Given the description of an element on the screen output the (x, y) to click on. 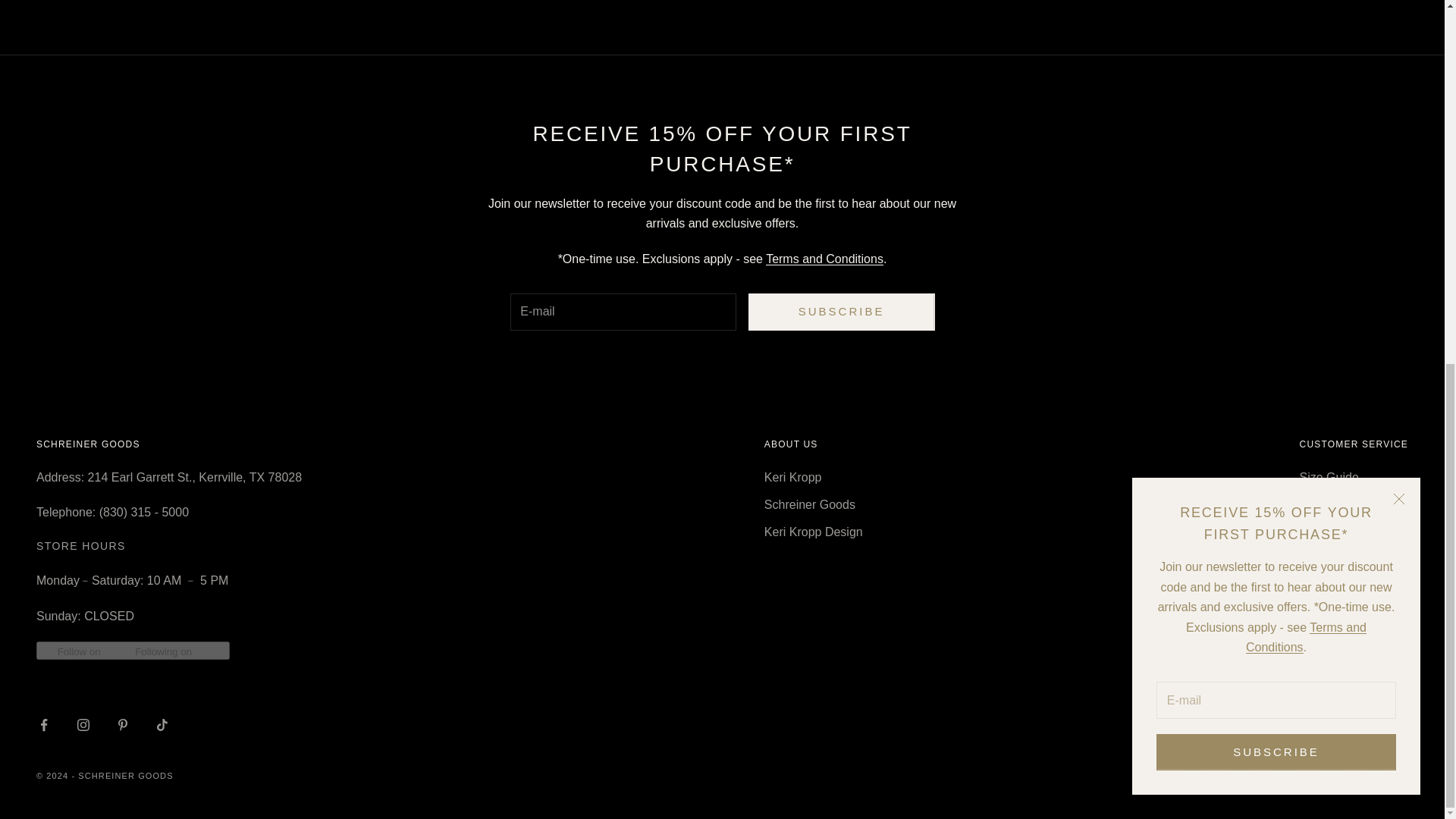
Online Gift Card (1343, 642)
Return Policy (1335, 531)
Contact Us (1329, 615)
Privacy Policy (1337, 559)
Keri Kropp (793, 477)
Keri Kropp Design (813, 531)
Schreiner Goods (810, 504)
SUBSCRIBE (841, 311)
Terms and Conditions (824, 258)
Terms and Conditions (1306, 1)
SUBSCRIBE (1276, 100)
Shipping (1323, 504)
Size Guide (1329, 477)
